Given the description of an element on the screen output the (x, y) to click on. 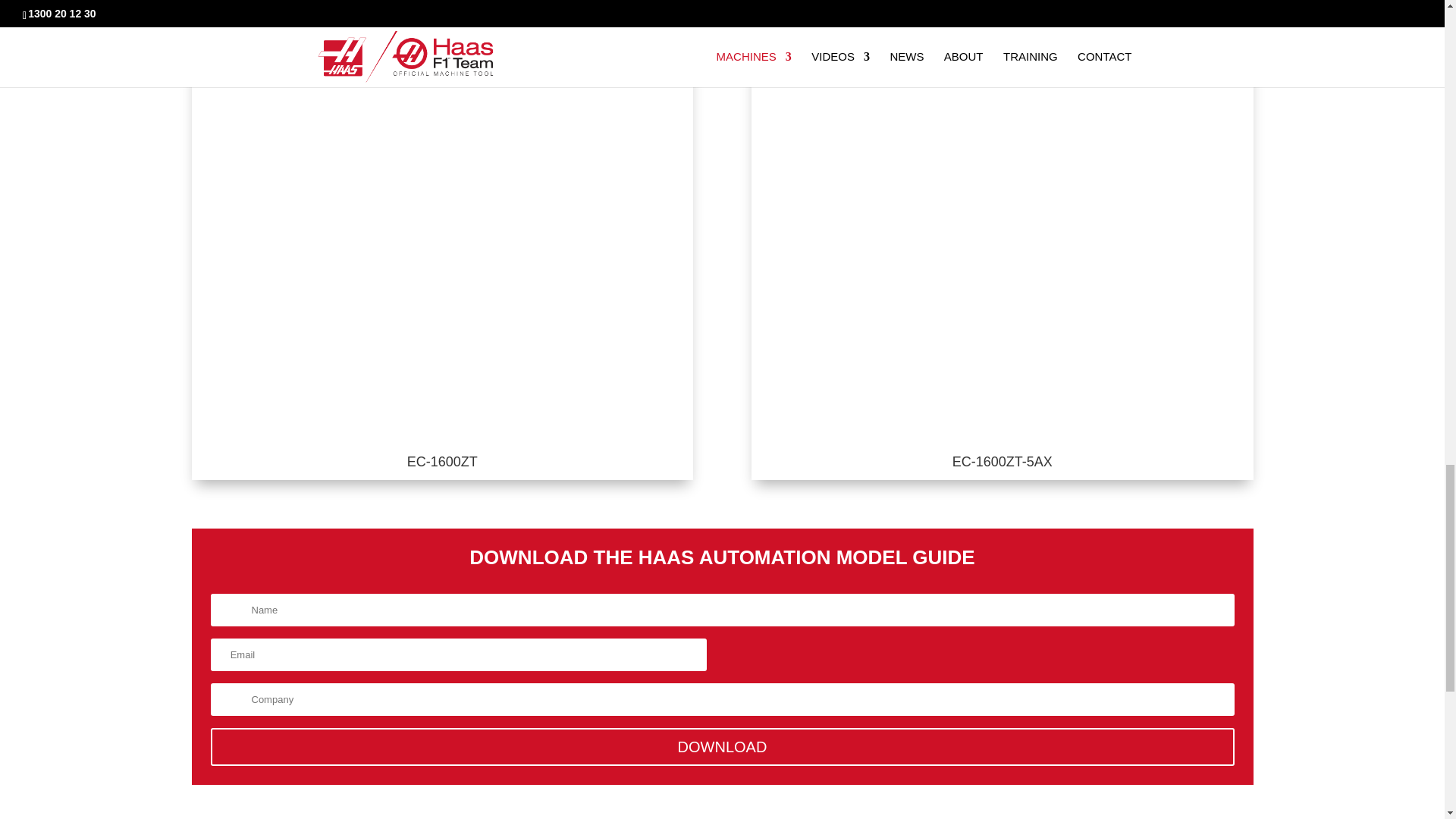
EC-1600ZT (442, 461)
DOWNLOAD (722, 746)
EC-1600ZT-5AX (1002, 461)
